Given the description of an element on the screen output the (x, y) to click on. 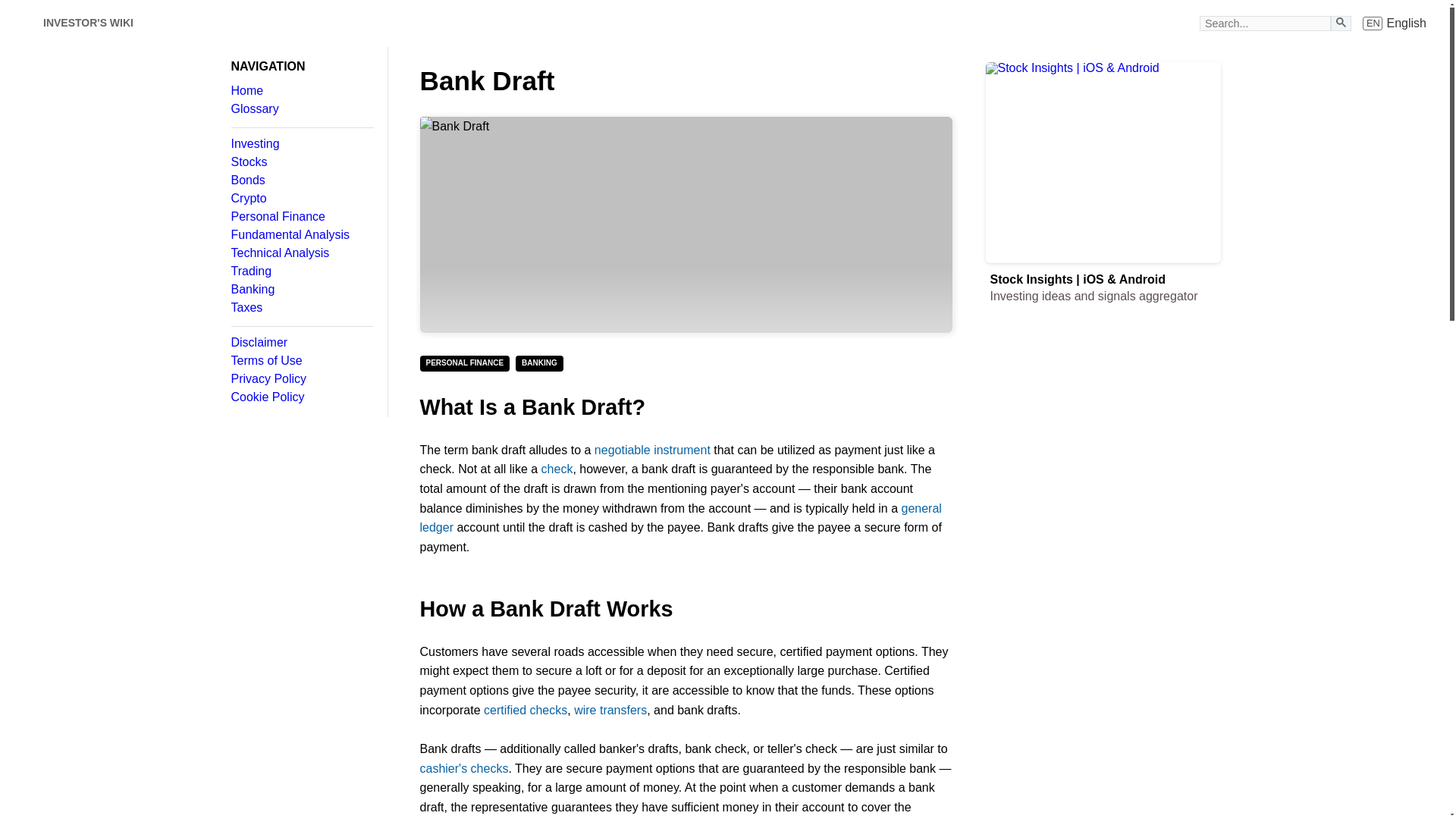
Privacy Policy (1394, 23)
Search (301, 378)
Disclaimer (1340, 22)
Stocks (301, 342)
Bank Draft (301, 162)
Personal Finance (686, 224)
Taxes (301, 216)
Trading (301, 307)
Banking (301, 271)
Crypto (301, 289)
Glossary (301, 198)
INVESTOR'S WIKI (301, 109)
Home (88, 23)
Fundamental Analysis (301, 91)
